Given the description of an element on the screen output the (x, y) to click on. 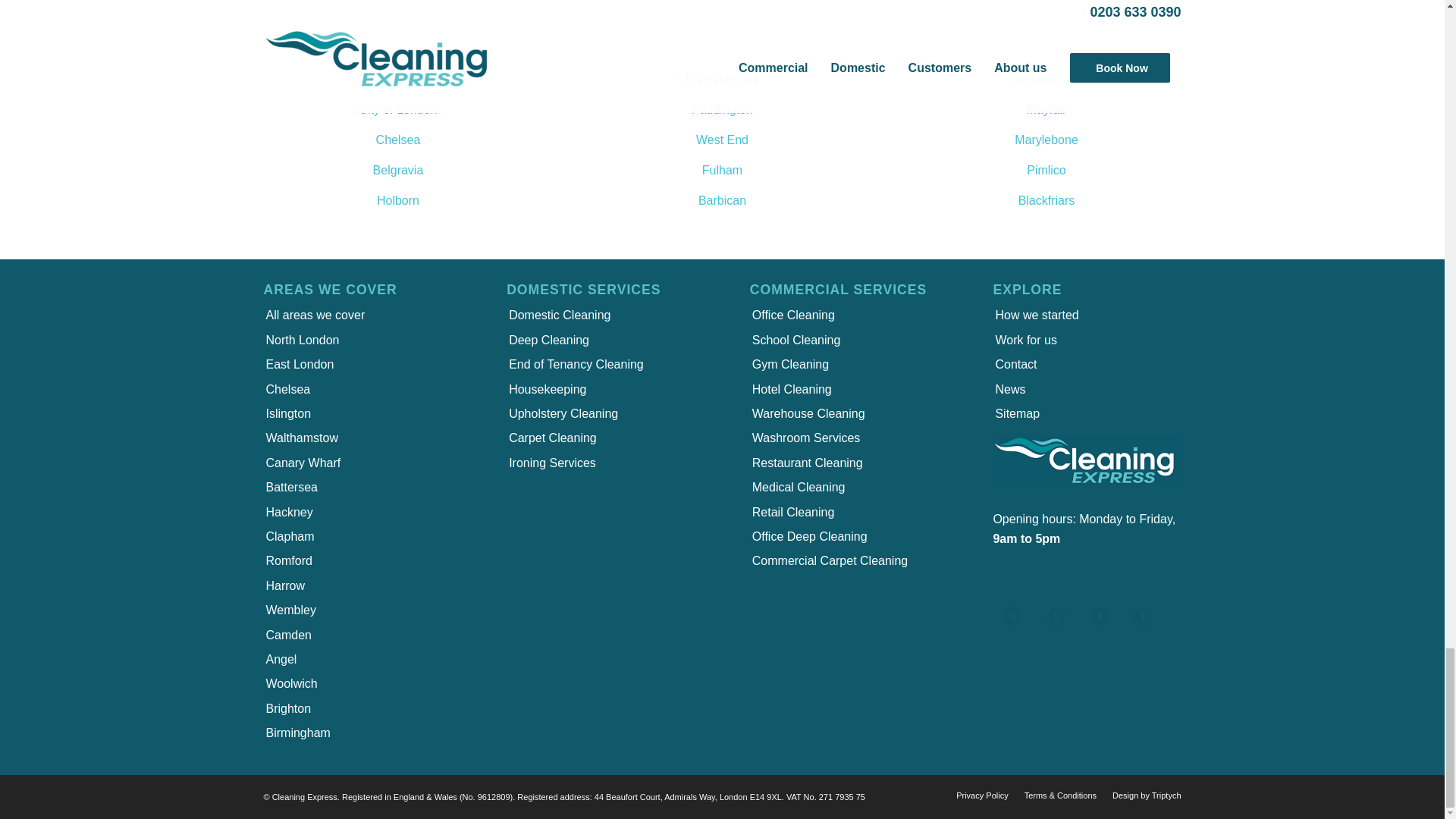
List Title 2 (1065, 626)
List Title 1 (1023, 626)
List Title 3 (1109, 626)
